Given the description of an element on the screen output the (x, y) to click on. 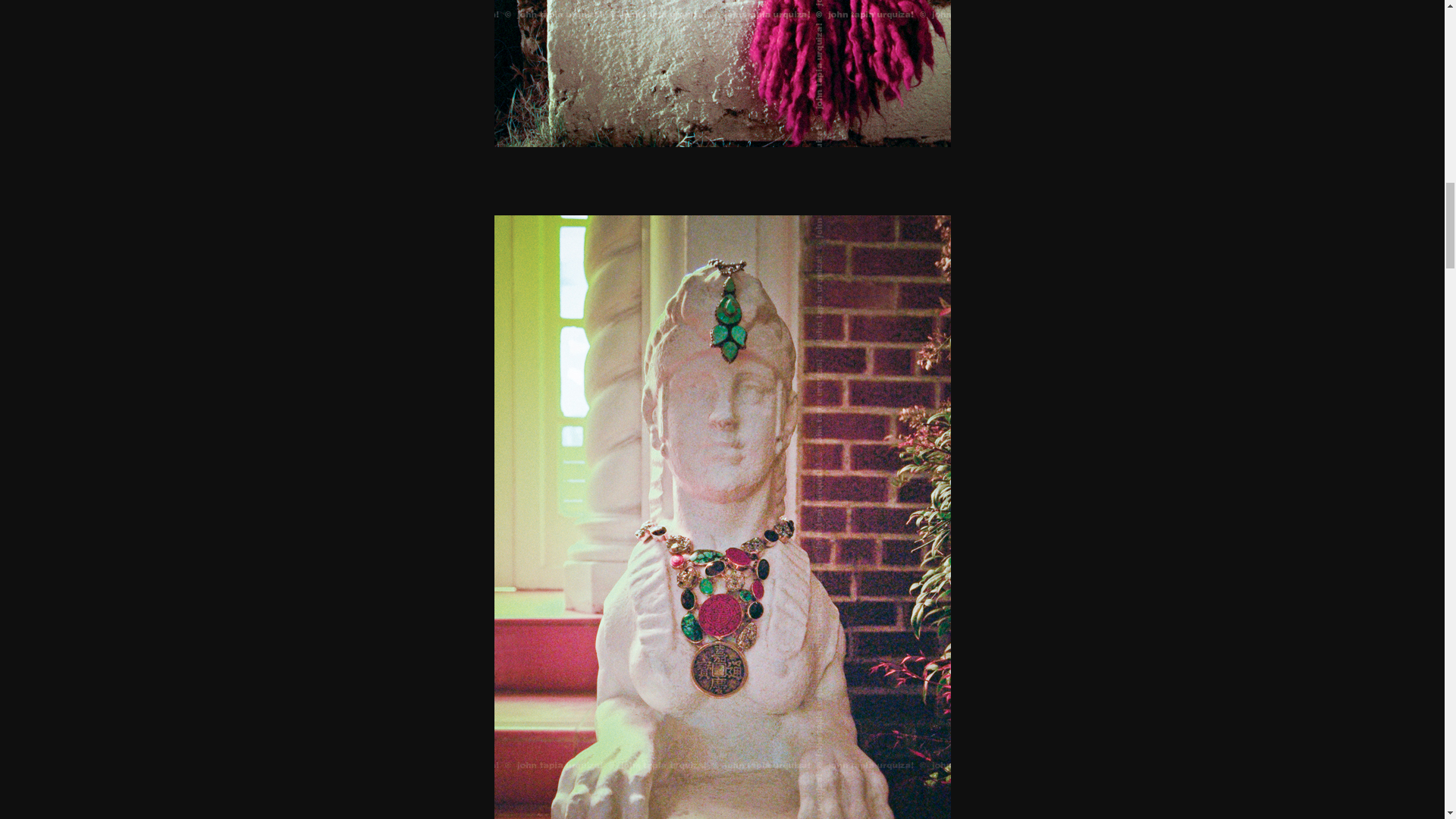
arroyo nights 02 (722, 73)
